Given the description of an element on the screen output the (x, y) to click on. 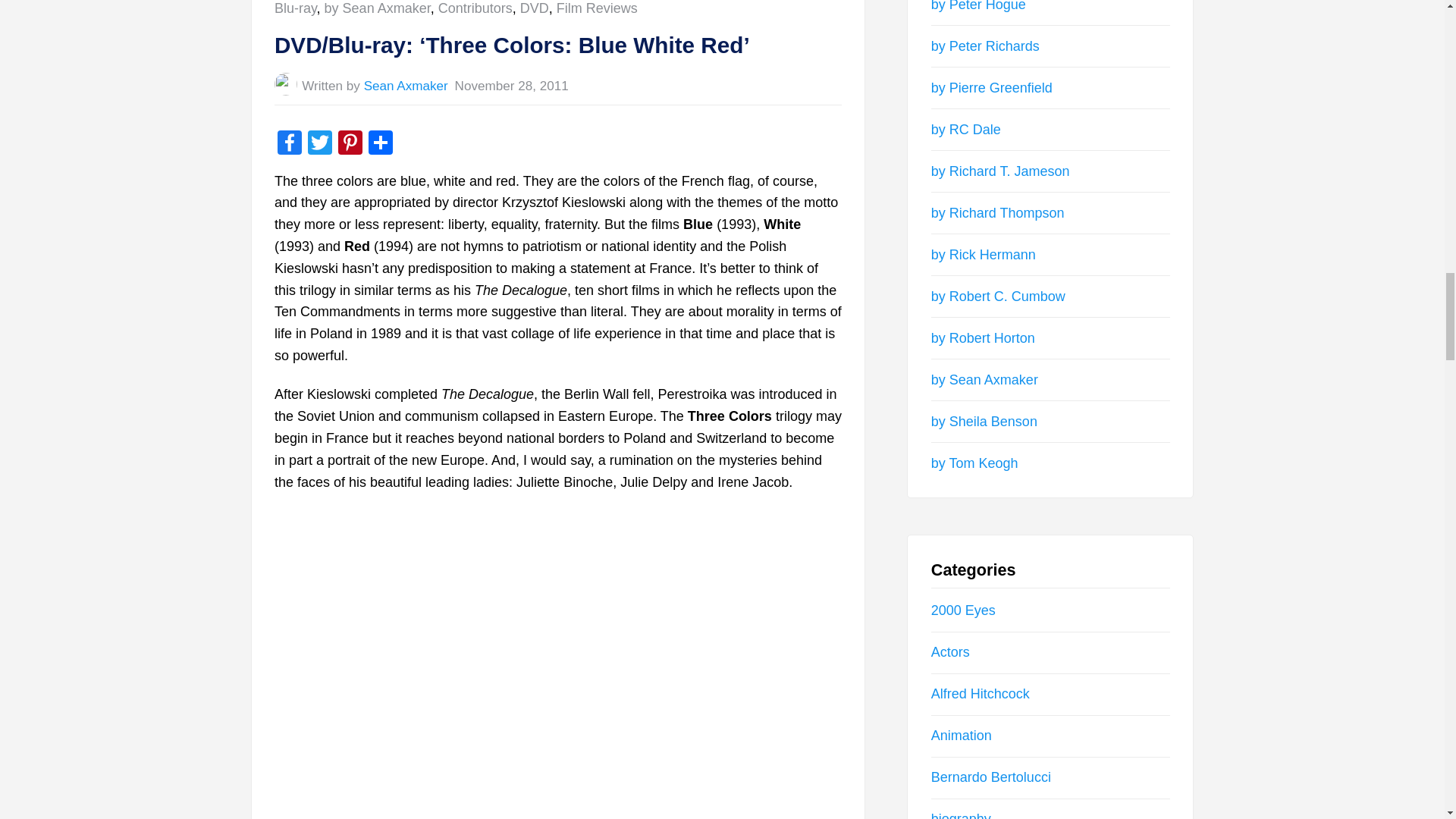
November 28, 2011 (511, 85)
Blu-ray (296, 7)
Sean Axmaker (406, 85)
Twitter (319, 144)
Twitter (319, 144)
Contributors (475, 7)
Film Reviews (596, 7)
DVD (533, 7)
Pinterest (349, 144)
Facebook (289, 144)
by Sean Axmaker (377, 7)
Share (380, 144)
Pinterest (349, 144)
Facebook (289, 144)
